Given the description of an element on the screen output the (x, y) to click on. 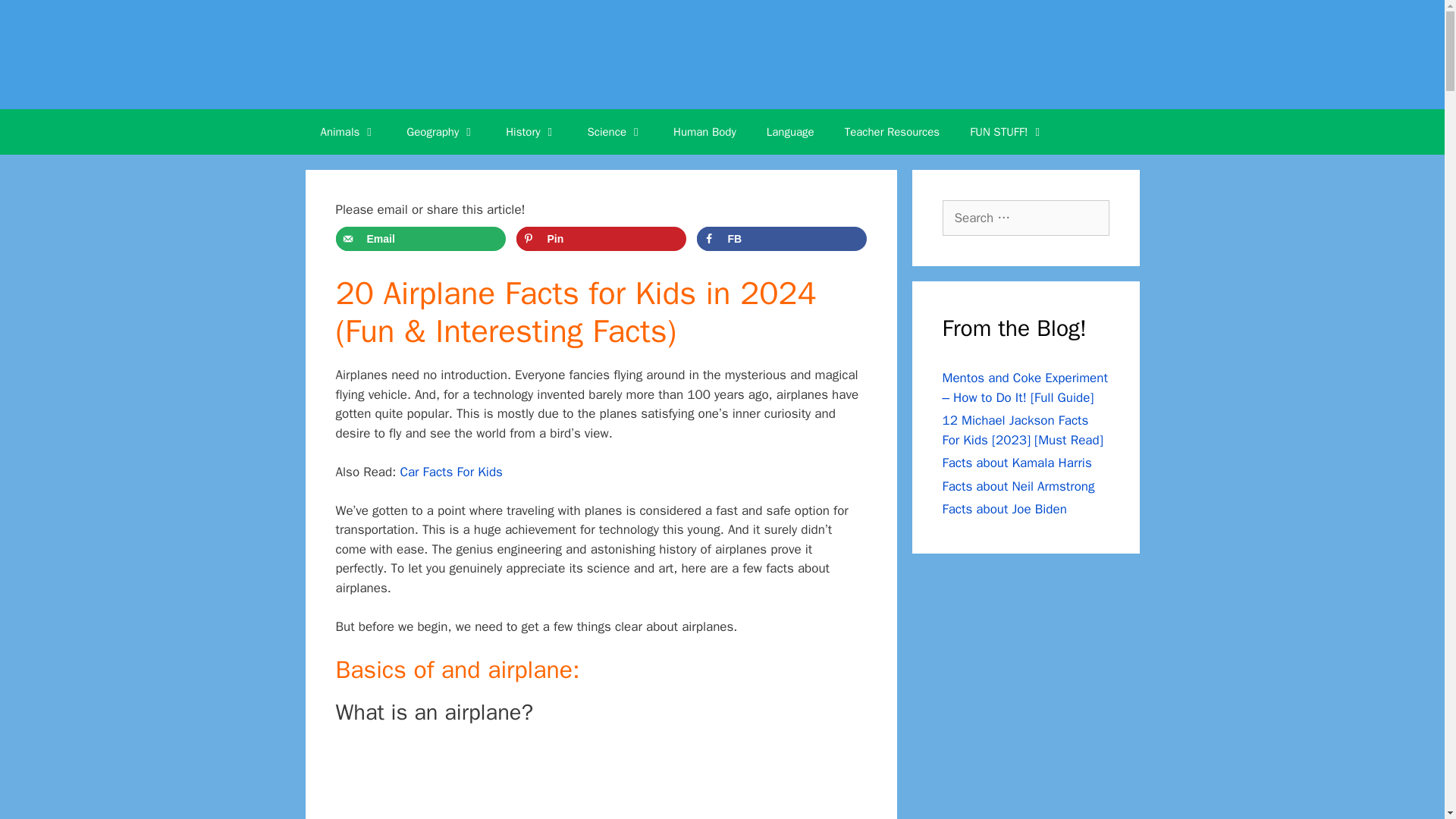
Send over email (419, 238)
Save to Pinterest (600, 238)
Search for: (1025, 217)
History (531, 131)
Animals (347, 131)
Geography (440, 131)
Share on Facebook (780, 238)
Science (615, 131)
